Given the description of an element on the screen output the (x, y) to click on. 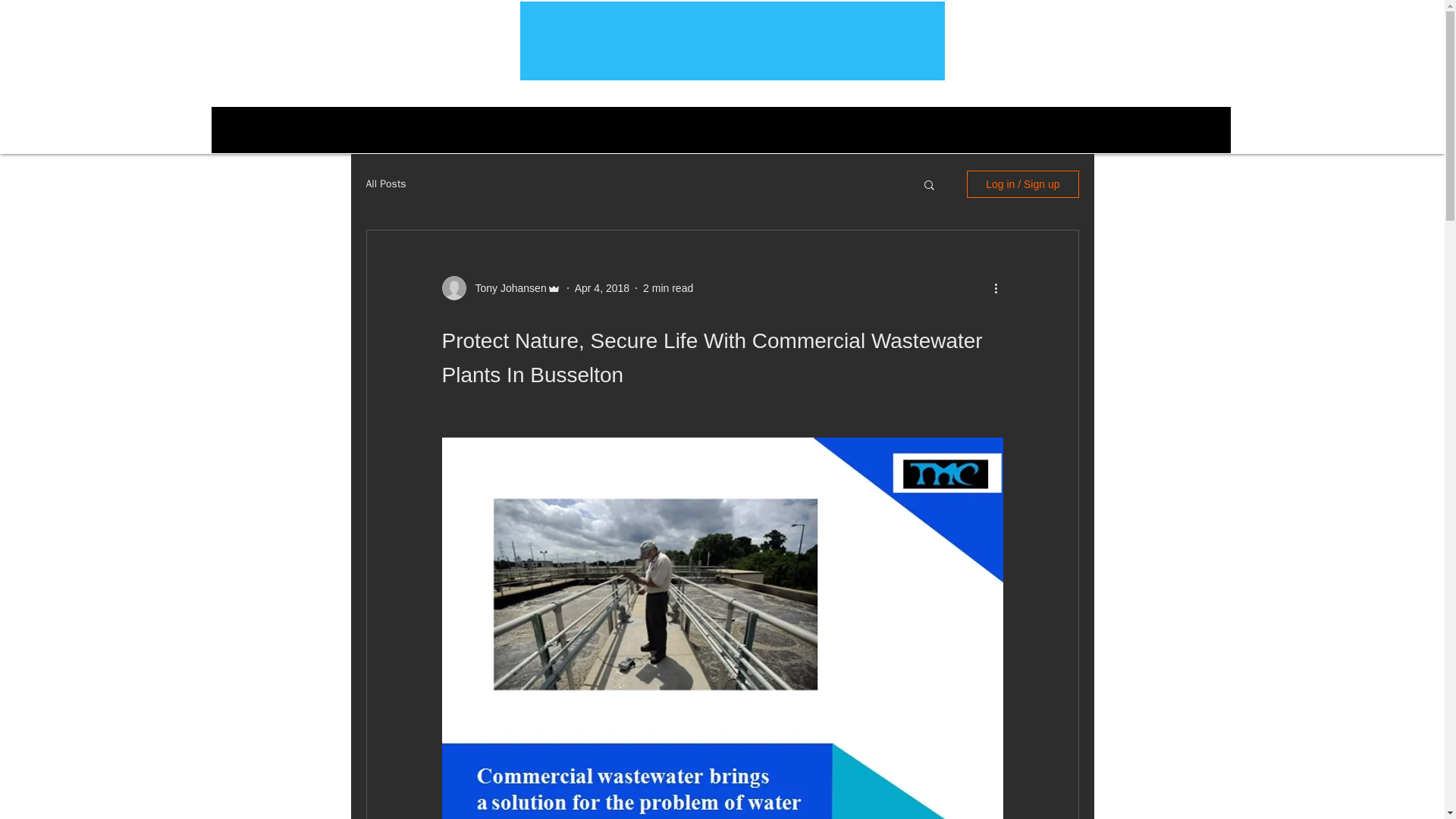
2 min read (668, 287)
Apr 4, 2018 (601, 287)
All Posts (385, 183)
Tony Johansen (505, 288)
